Given the description of an element on the screen output the (x, y) to click on. 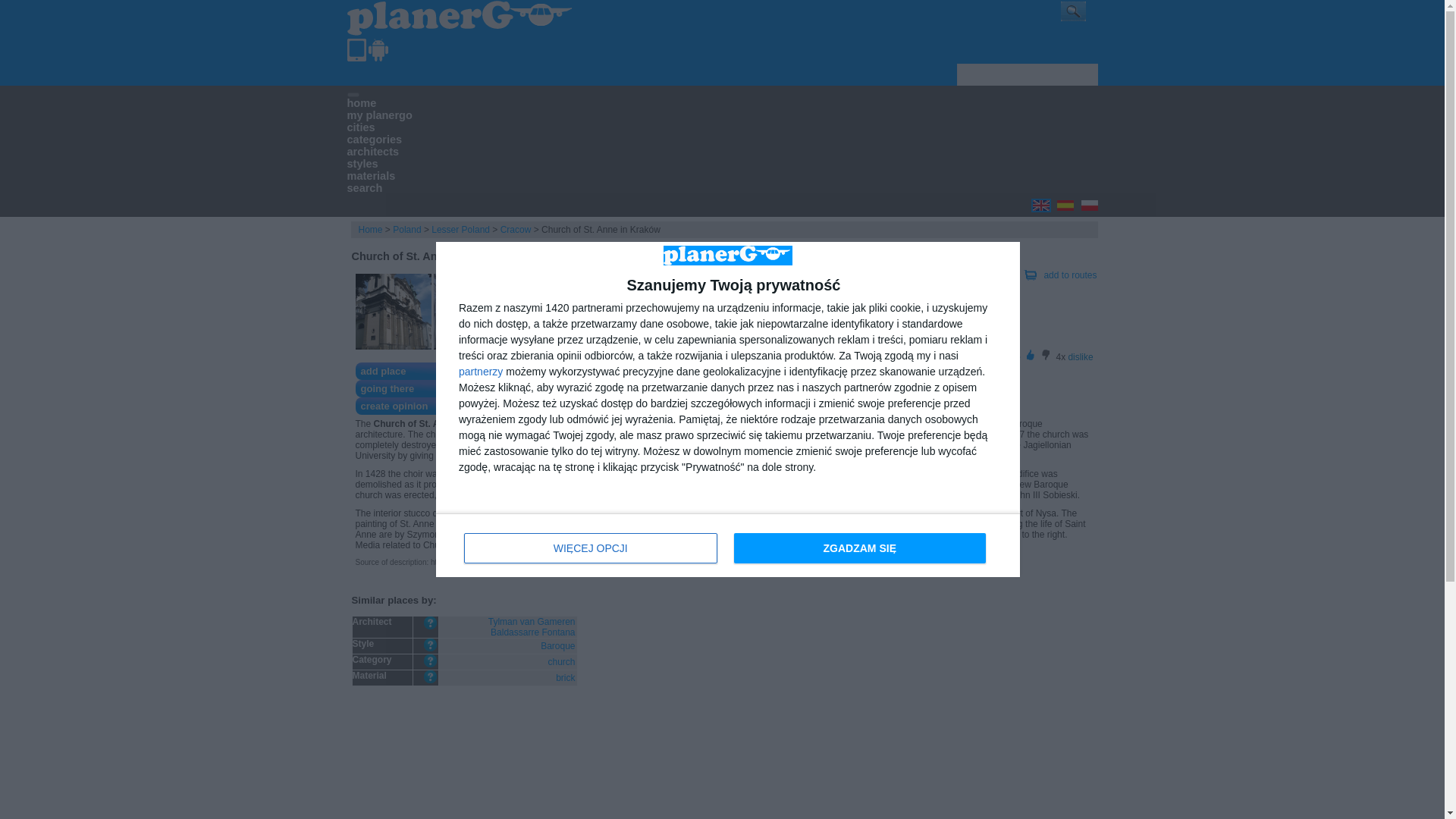
architects (372, 151)
search (364, 187)
create opinion (418, 405)
categories (375, 139)
materials (371, 175)
like (1013, 357)
Tylman van Gameren (531, 621)
dislike (1080, 357)
partnerzy (480, 371)
cities (361, 127)
add to routes (1069, 275)
you like it (1030, 354)
dislike (1080, 357)
styles (362, 163)
Home (369, 229)
